Given the description of an element on the screen output the (x, y) to click on. 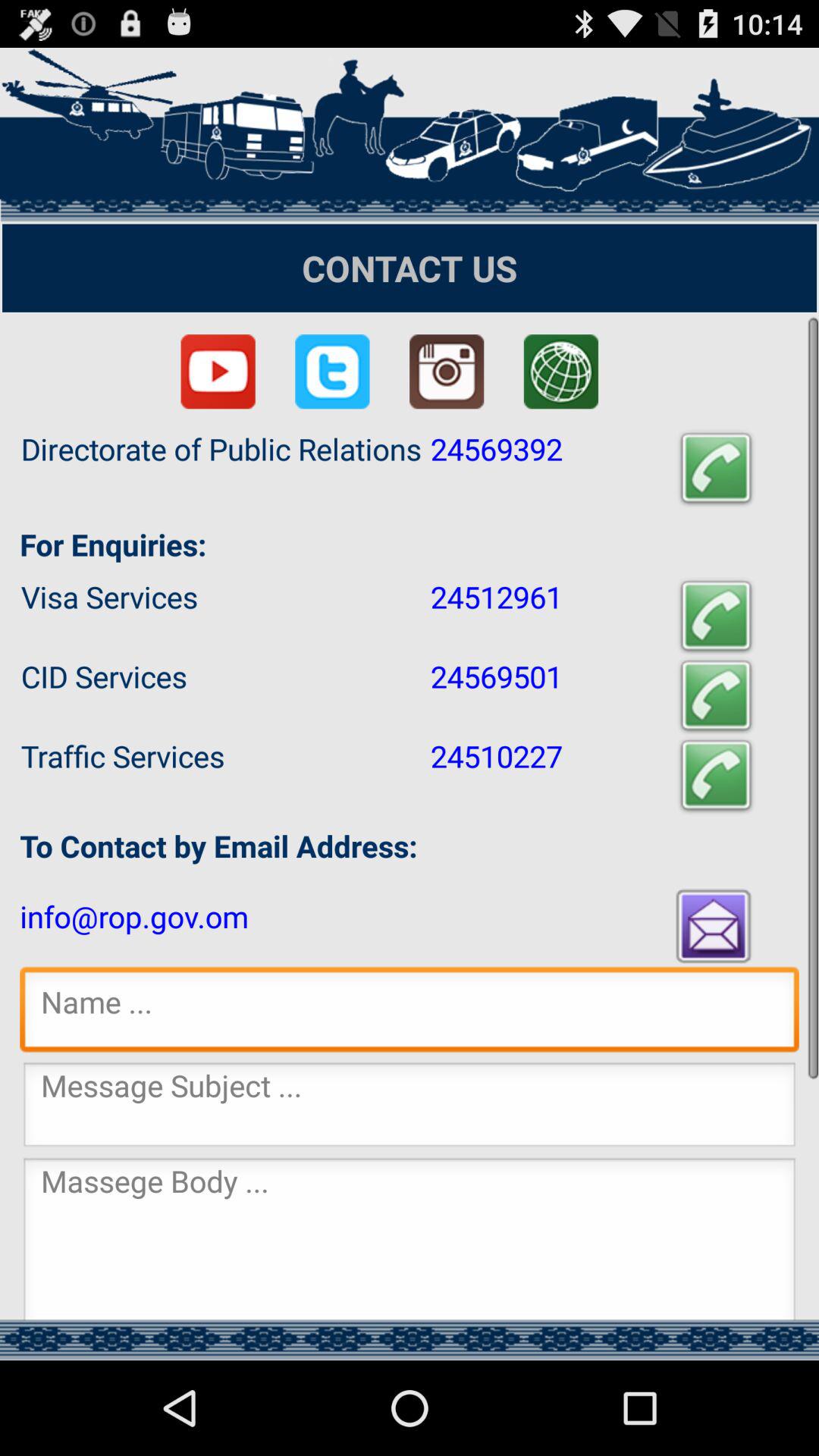
open the icon to the right of 24512961 item (716, 616)
